Given the description of an element on the screen output the (x, y) to click on. 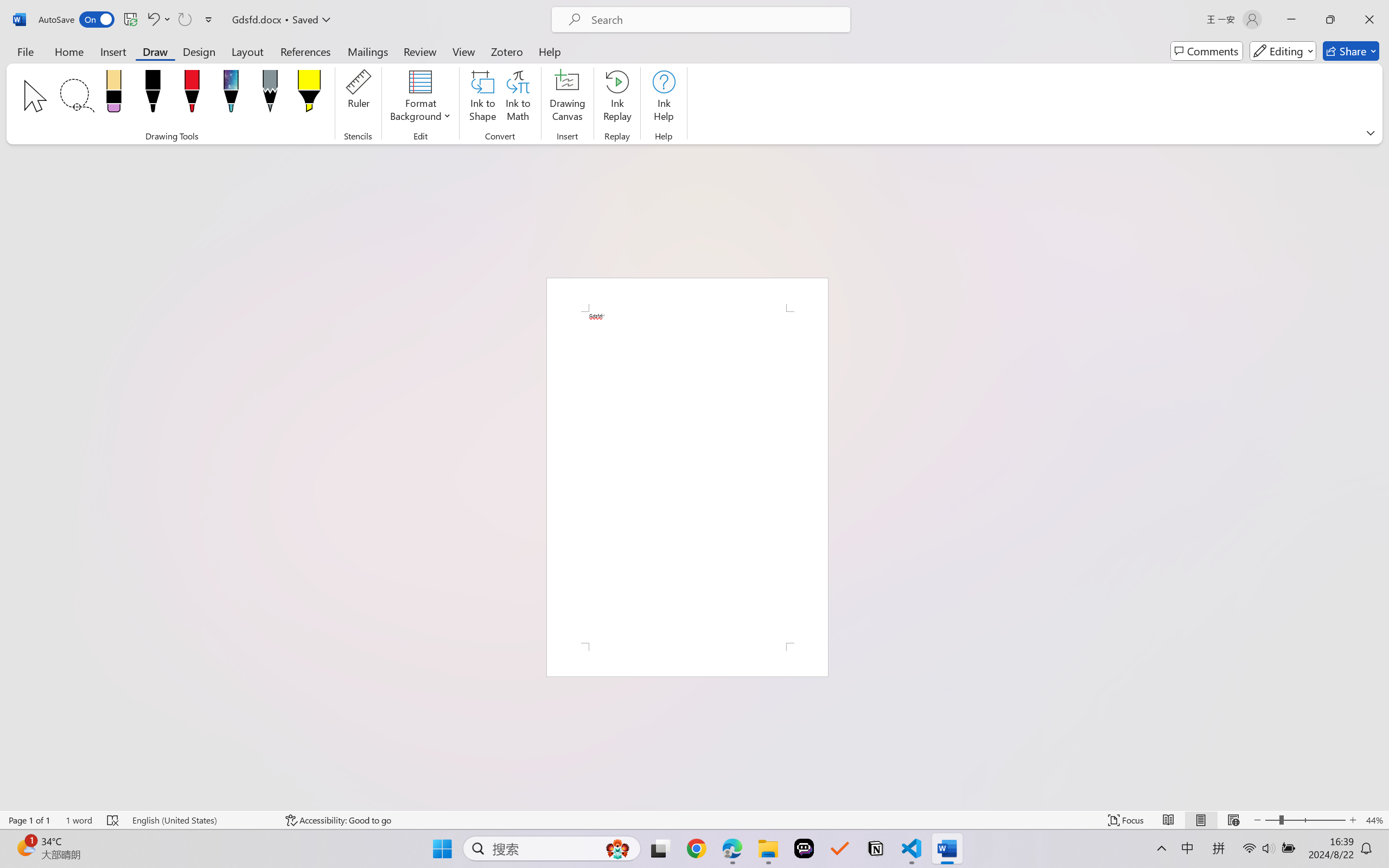
Microsoft Edge (222, 855)
File Explorer - 1 running window (249, 855)
100% (664, 426)
Keep accessibility checker running while I work (1313, 479)
50% (663, 449)
Fit (660, 392)
Zoom 59% (1365, 837)
